Given the description of an element on the screen output the (x, y) to click on. 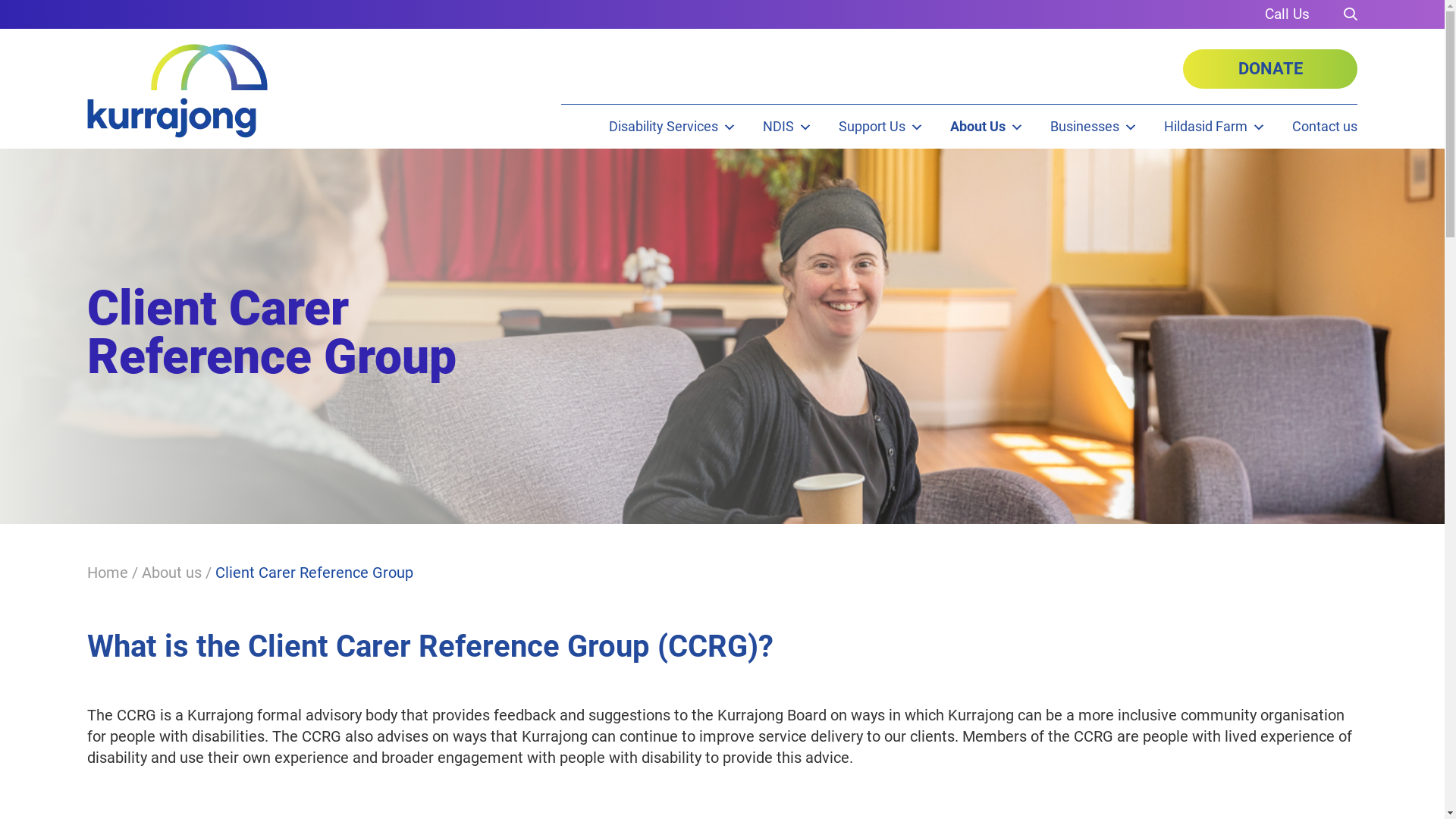
Businesses Element type: text (1093, 126)
Kurrajong Element type: hover (177, 90)
Hildasid Farm Element type: text (1214, 126)
About Us Element type: text (986, 126)
Disability Services Element type: text (672, 126)
Home Element type: text (107, 572)
Support Us Element type: text (880, 126)
DONATE Element type: text (1270, 68)
Contact us Element type: text (1324, 126)
About us Element type: text (171, 572)
NDIS Element type: text (787, 126)
1300 764 620 Element type: text (1286, 13)
